Given the description of an element on the screen output the (x, y) to click on. 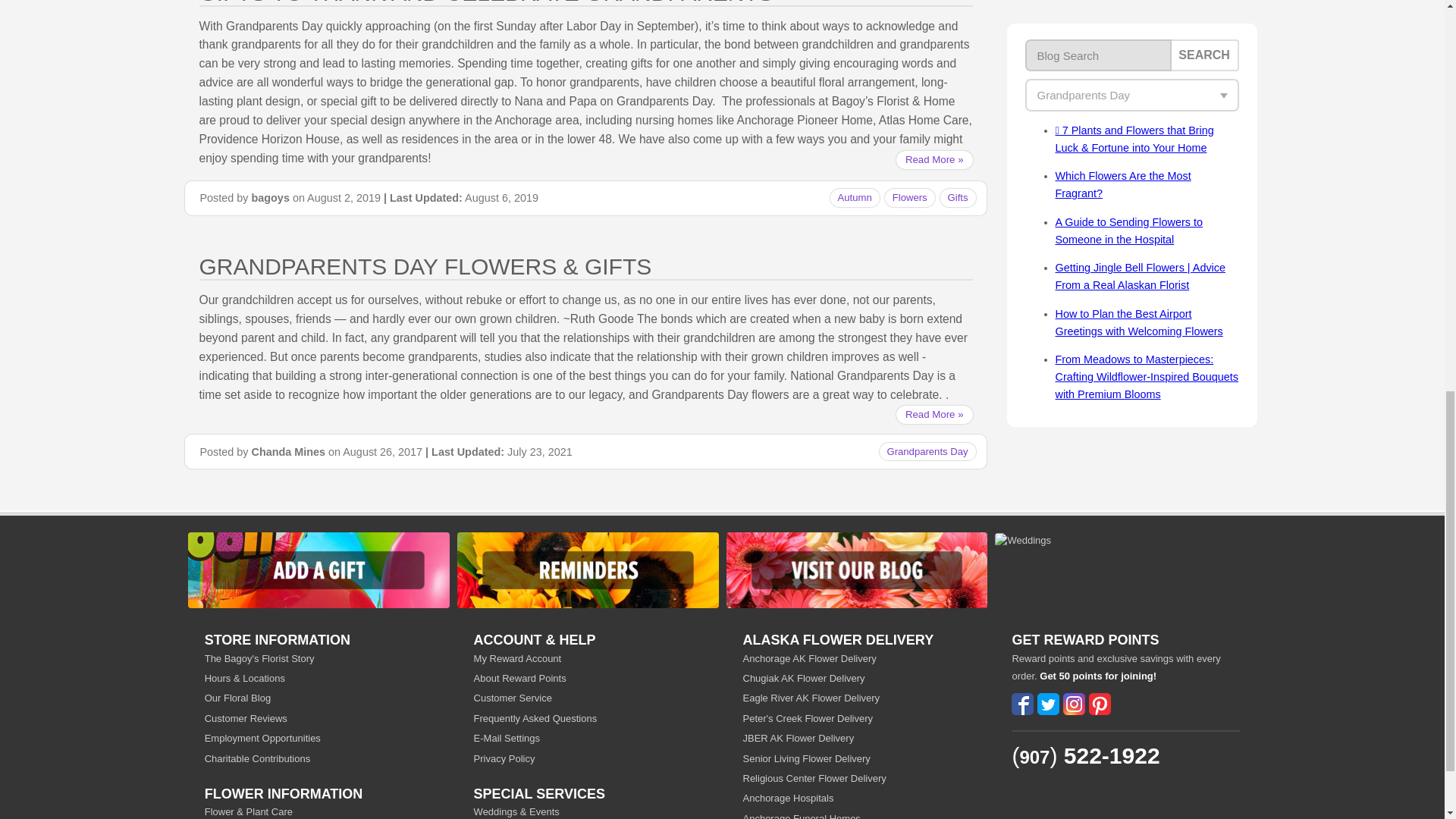
Grandparents Day (927, 451)
Gifts (957, 197)
Flowers (909, 197)
Autumn (854, 197)
The Bagoy's Florist Story (318, 658)
